Given the description of an element on the screen output the (x, y) to click on. 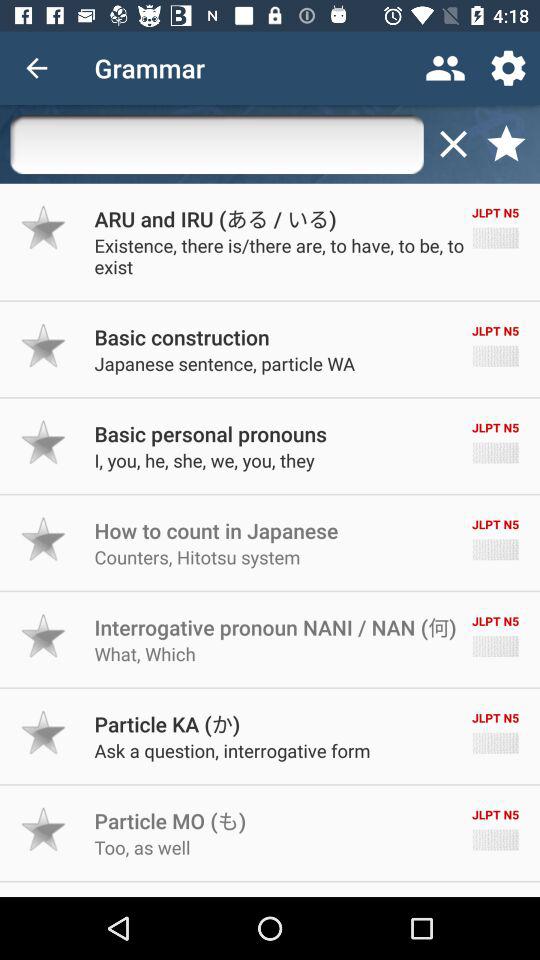
favorite option (44, 227)
